Given the description of an element on the screen output the (x, y) to click on. 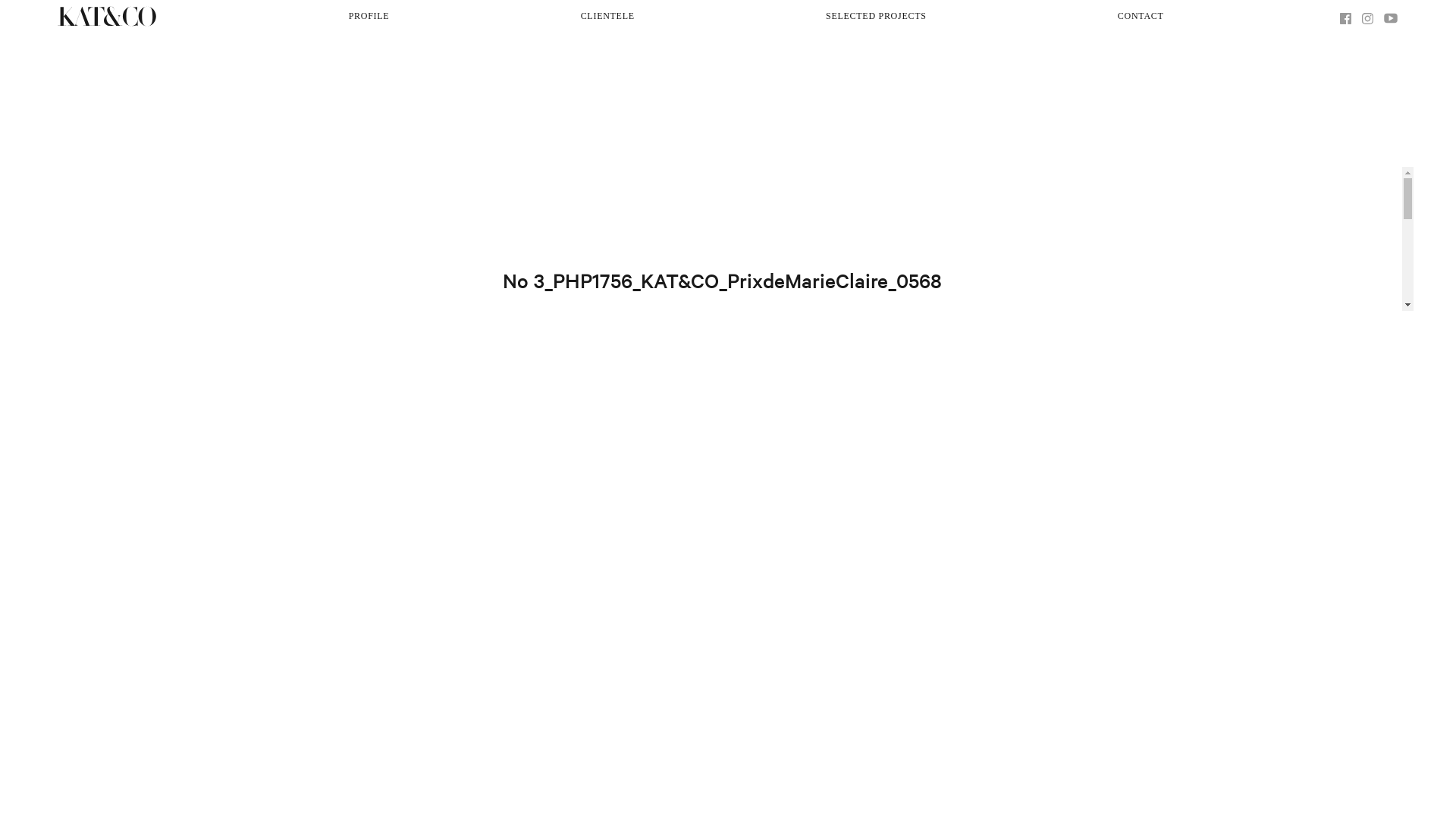
CLIENTELE Element type: text (607, 16)
SELECTED PROJECTS Element type: text (875, 16)
CONTACT Element type: text (1140, 16)
PROFILE Element type: text (368, 16)
